Given the description of an element on the screen output the (x, y) to click on. 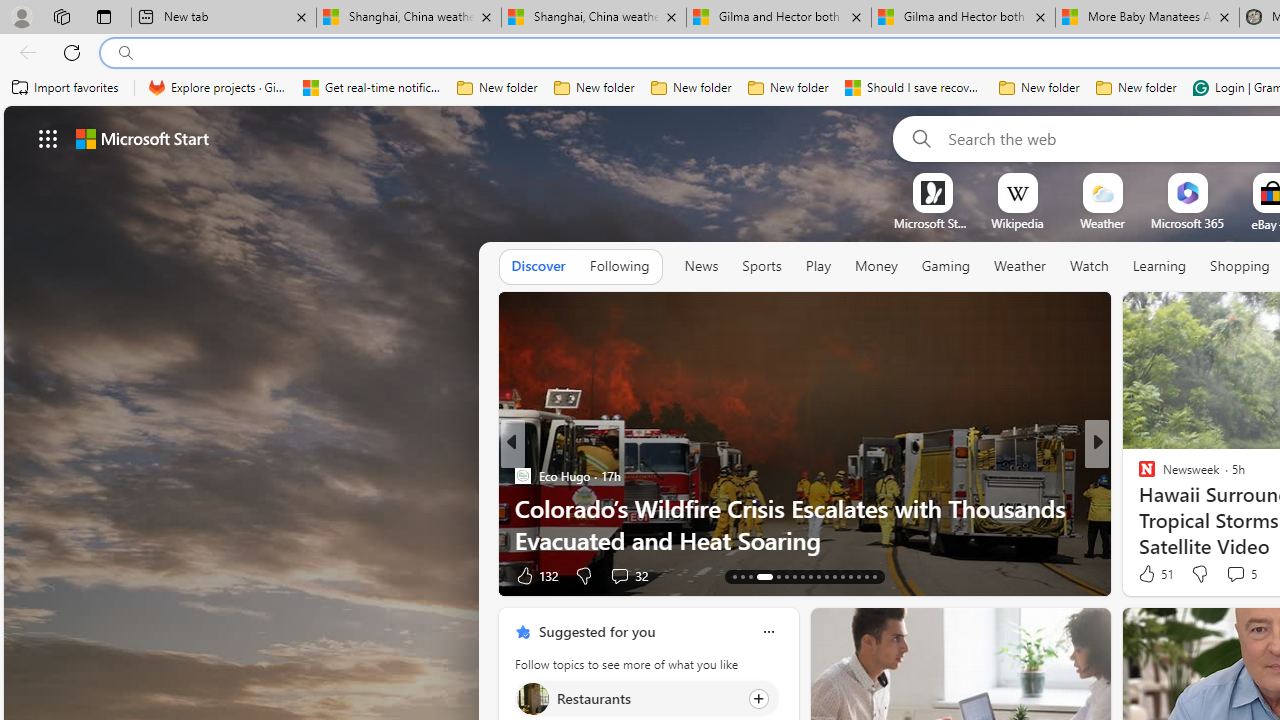
7 Like (1145, 574)
AutomationID: tab-32 (865, 576)
View comments 35 Comment (11, 575)
Learning (1159, 265)
AutomationID: tab-31 (857, 576)
Daily Caller (1138, 475)
76 Like (1149, 574)
View comments 1 Comment (11, 575)
96 Like (1149, 574)
Learning (1159, 267)
Shopping (1240, 265)
